Given the description of an element on the screen output the (x, y) to click on. 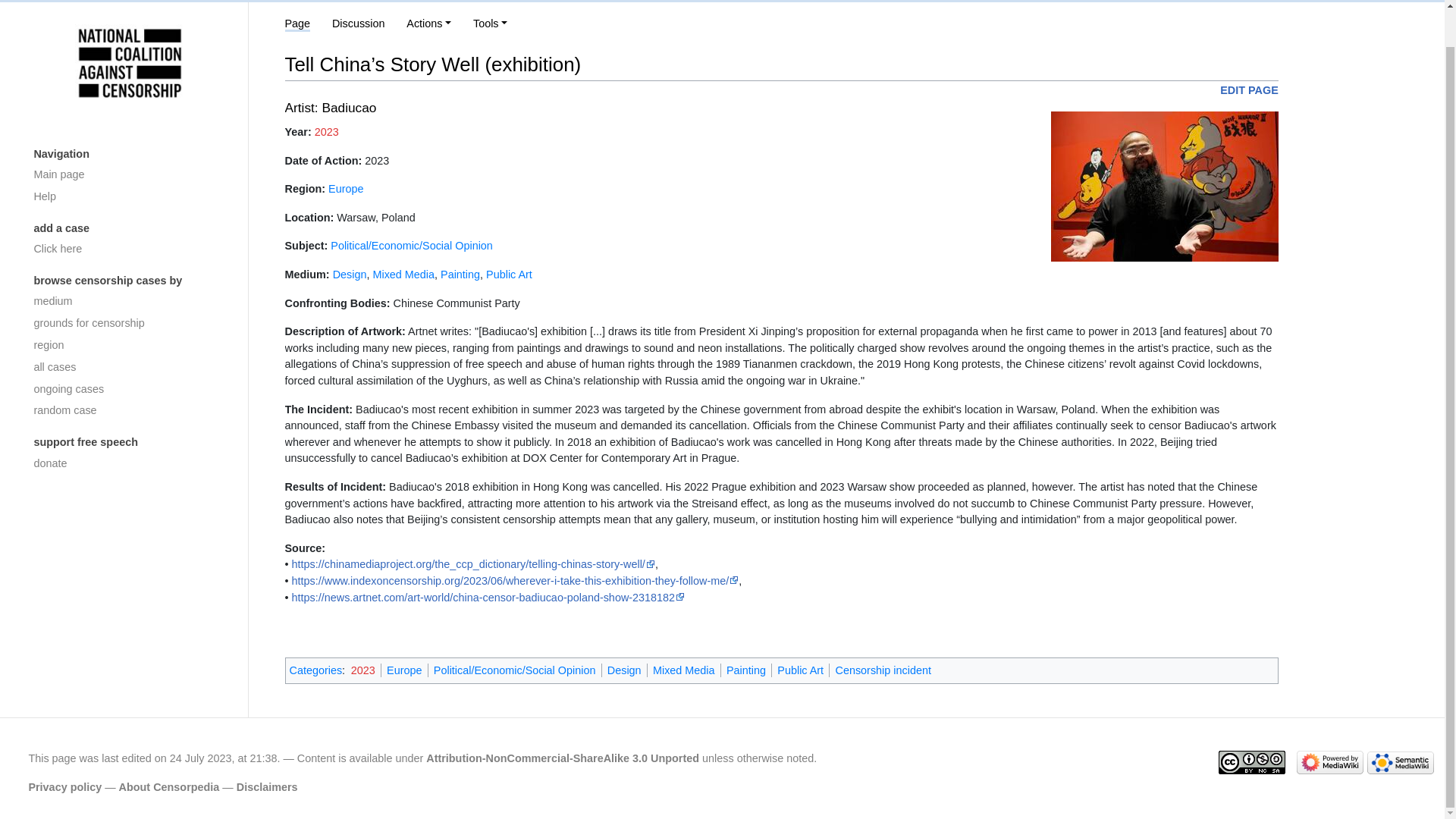
all cases (129, 367)
Tools (489, 23)
Main page (129, 175)
Help (129, 196)
support free speech (129, 442)
region (129, 344)
ongoing cases (129, 389)
browse censorship cases by (129, 281)
random case (129, 411)
Page (298, 24)
grounds for censorship (129, 322)
Click here (129, 249)
donate (129, 463)
Discussion (358, 23)
medium (129, 301)
